Given the description of an element on the screen output the (x, y) to click on. 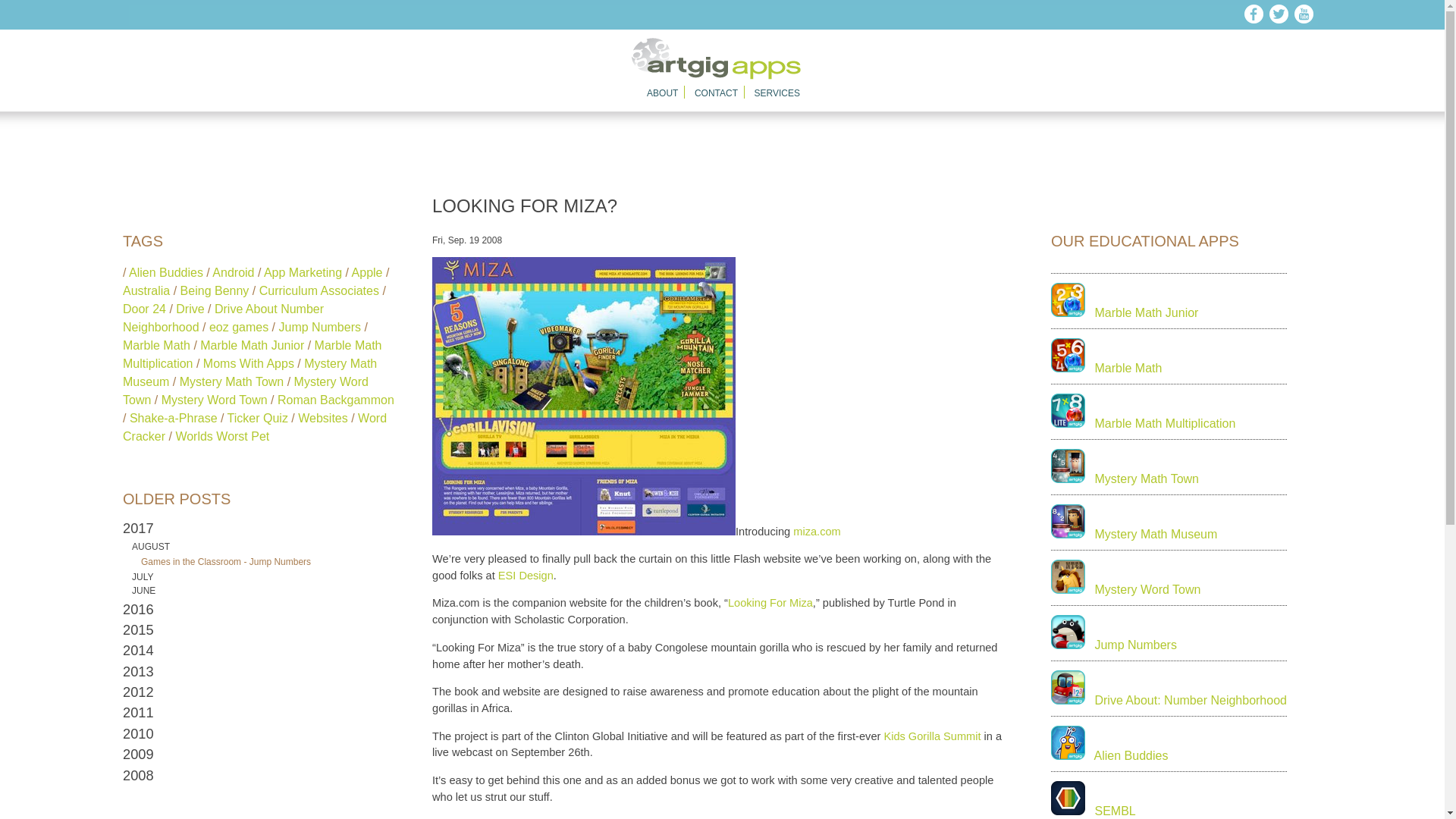
Curriculum Associates (318, 290)
Mystery Word Town (214, 399)
Games in the Classroom - Jump Numbers (226, 561)
Drive (189, 308)
Moms With Apps (248, 363)
Australia (146, 290)
Alien Buddies (166, 272)
eoz games (238, 327)
Mystery Word Town (245, 390)
Marble Math Multiplication (251, 354)
Drive About Number Neighborhood (222, 317)
SERVICES (776, 92)
ABOUT (662, 92)
Being Benny (214, 290)
